Given the description of an element on the screen output the (x, y) to click on. 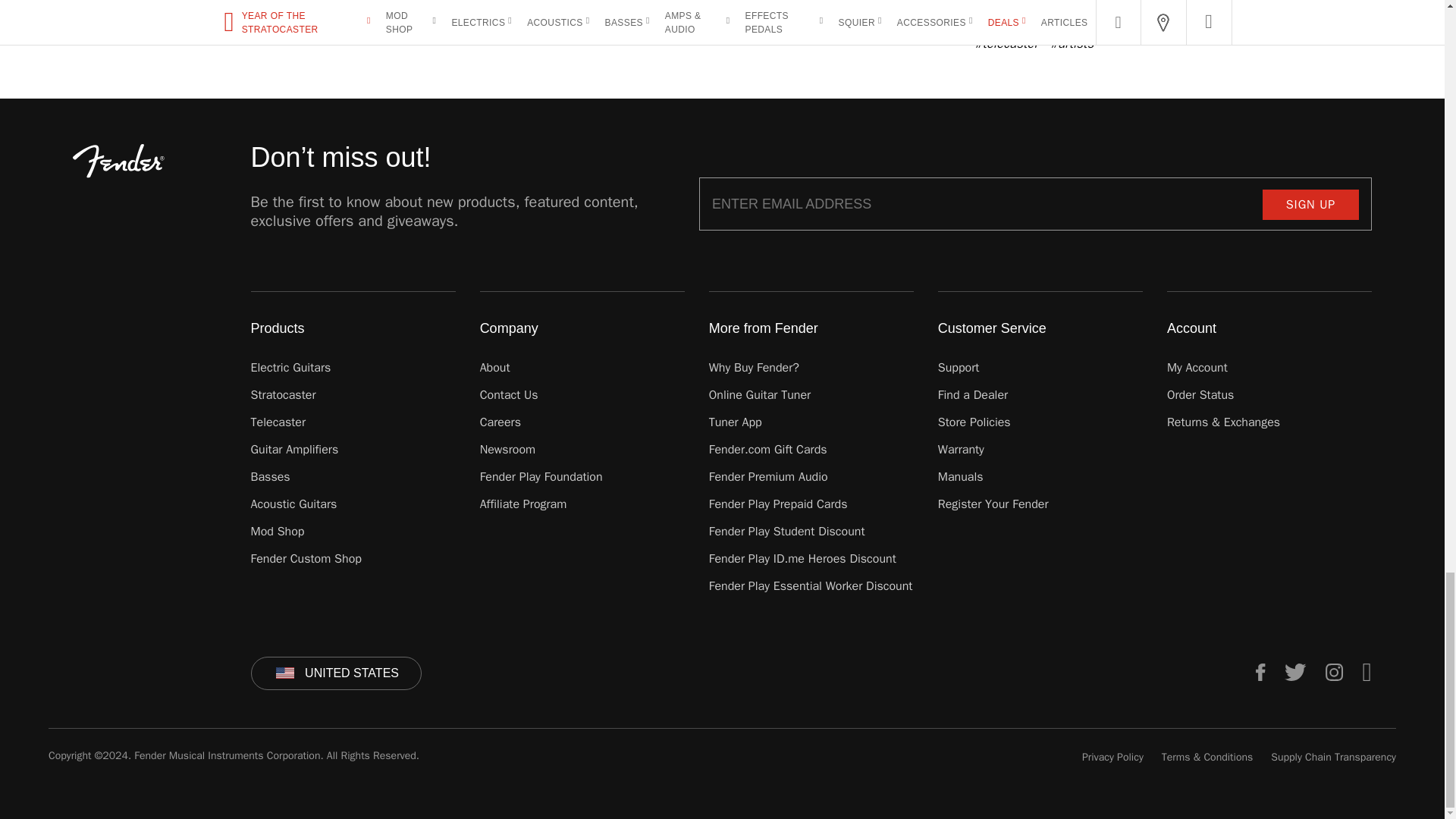
Fender.com (118, 161)
Fender Twitter (1295, 671)
Fender Instagram (1333, 671)
